Given the description of an element on the screen output the (x, y) to click on. 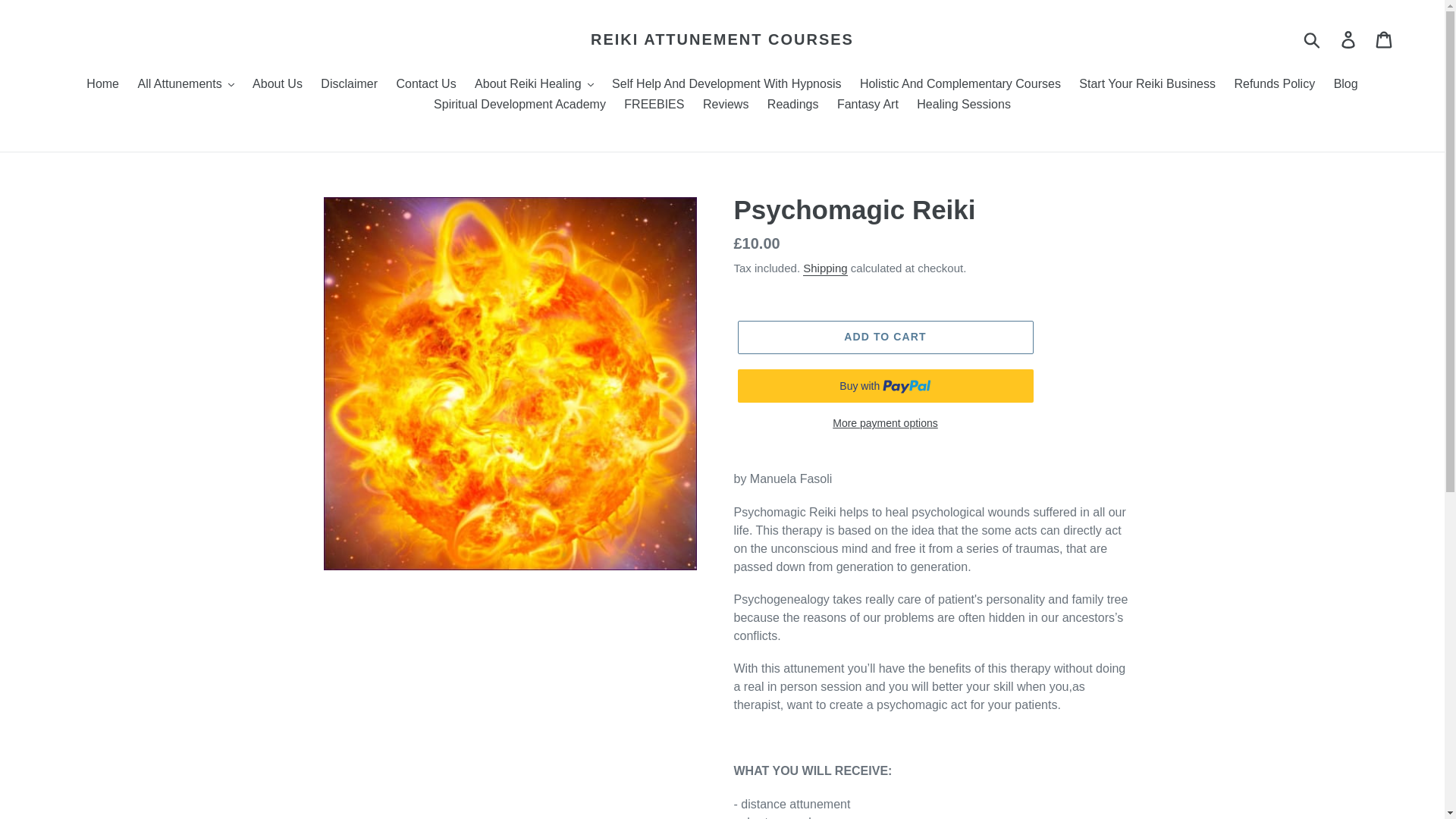
About Us (277, 85)
REIKI ATTUNEMENT COURSES (722, 39)
Log in (1349, 39)
Cart (1385, 39)
Contact Us (425, 85)
Submit (1313, 39)
Home (102, 85)
Disclaimer (349, 85)
